Given the description of an element on the screen output the (x, y) to click on. 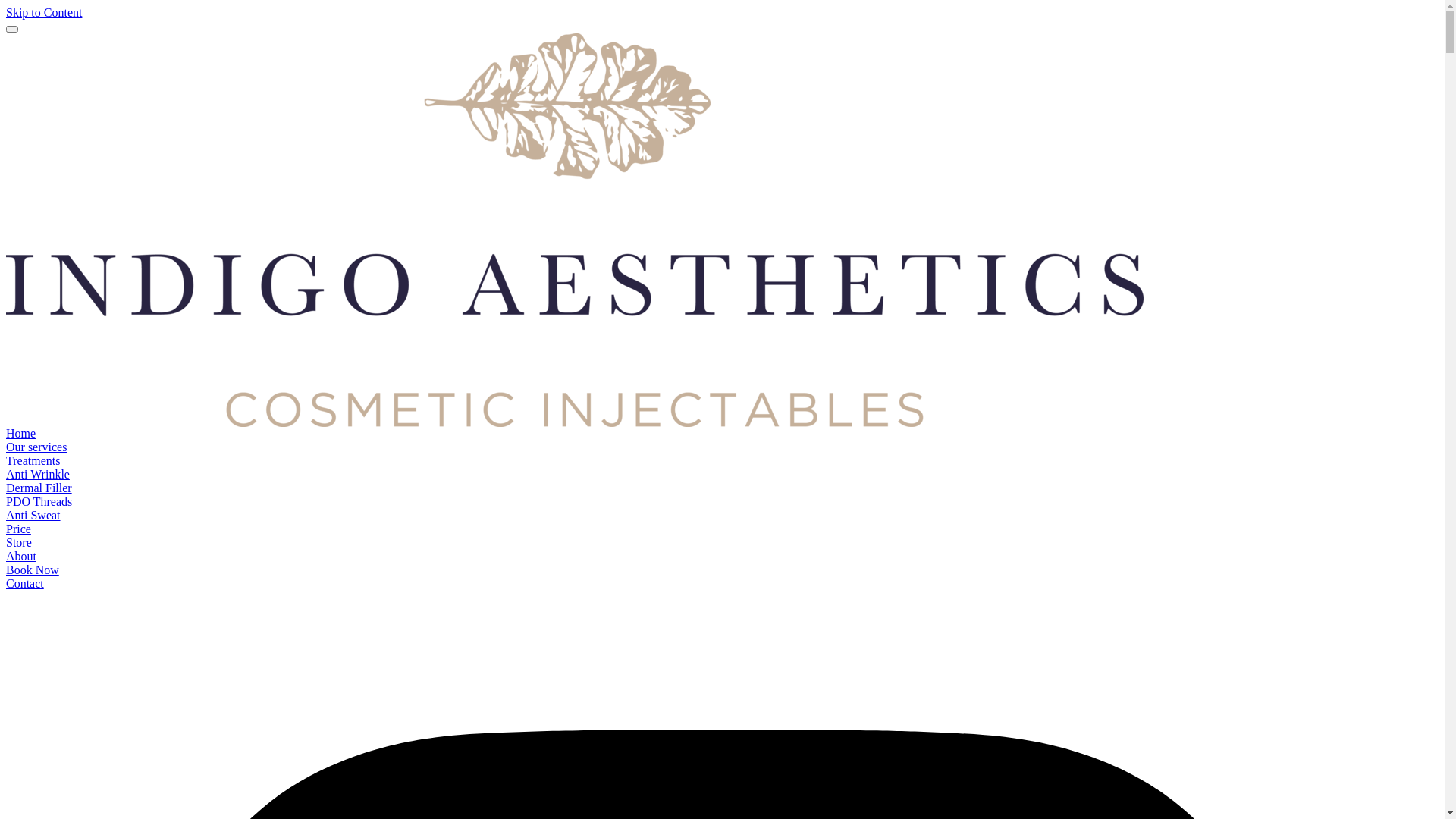
Our services Element type: text (36, 446)
Treatments Element type: text (32, 460)
Dermal Filler Element type: text (39, 487)
Home Element type: text (20, 432)
Anti Sweat Element type: text (33, 514)
Contact Element type: text (24, 583)
PDO Threads Element type: text (39, 501)
Book Now Element type: text (32, 569)
About Element type: text (21, 555)
Store Element type: text (18, 542)
Skip to Content Element type: text (43, 12)
Anti Wrinkle Element type: text (37, 473)
Price Element type: text (18, 528)
